Given the description of an element on the screen output the (x, y) to click on. 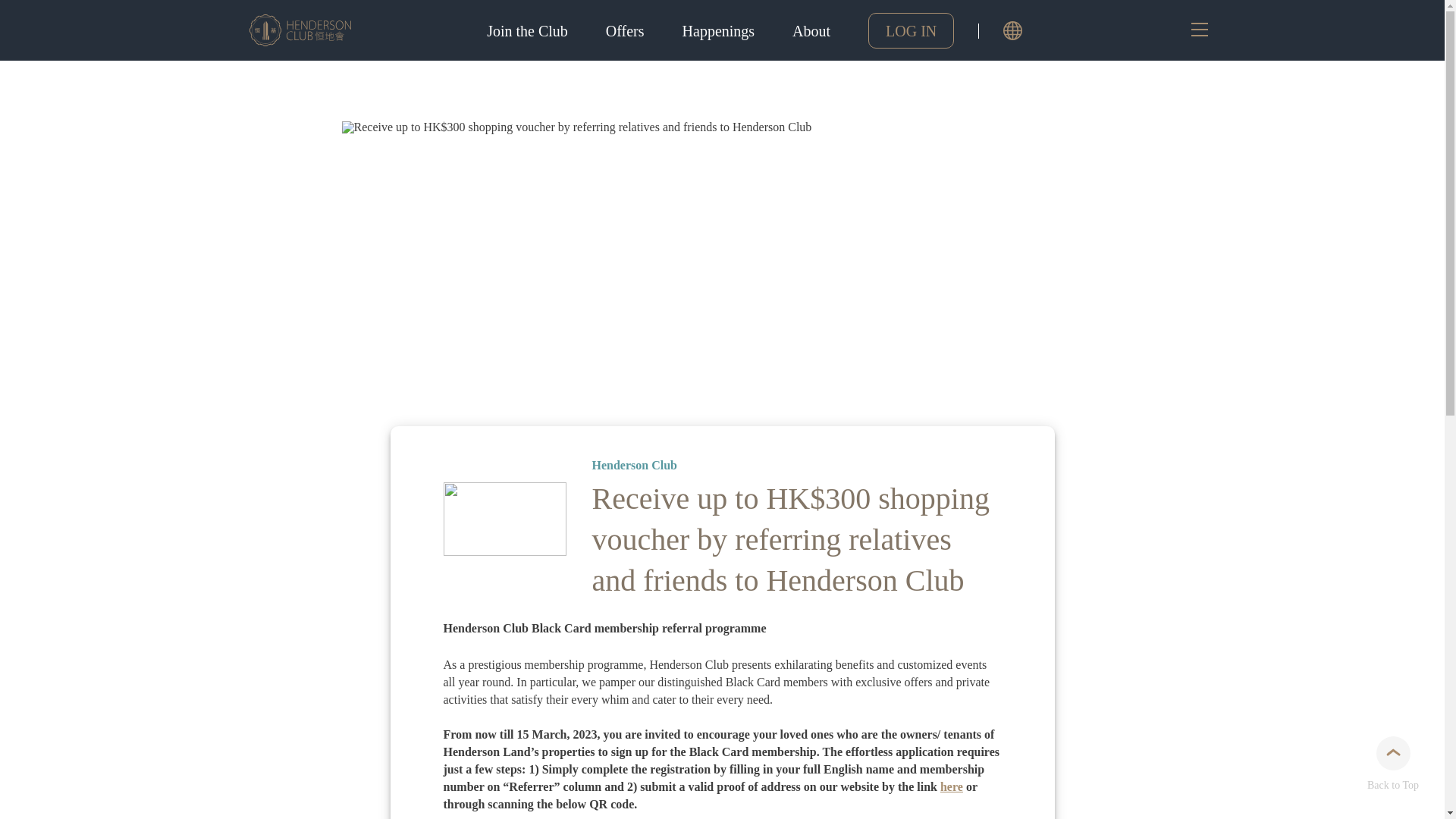
here (951, 786)
Happenings (718, 30)
LOG IN (910, 30)
Offers (625, 30)
About (810, 30)
Join the Club (525, 30)
